Given the description of an element on the screen output the (x, y) to click on. 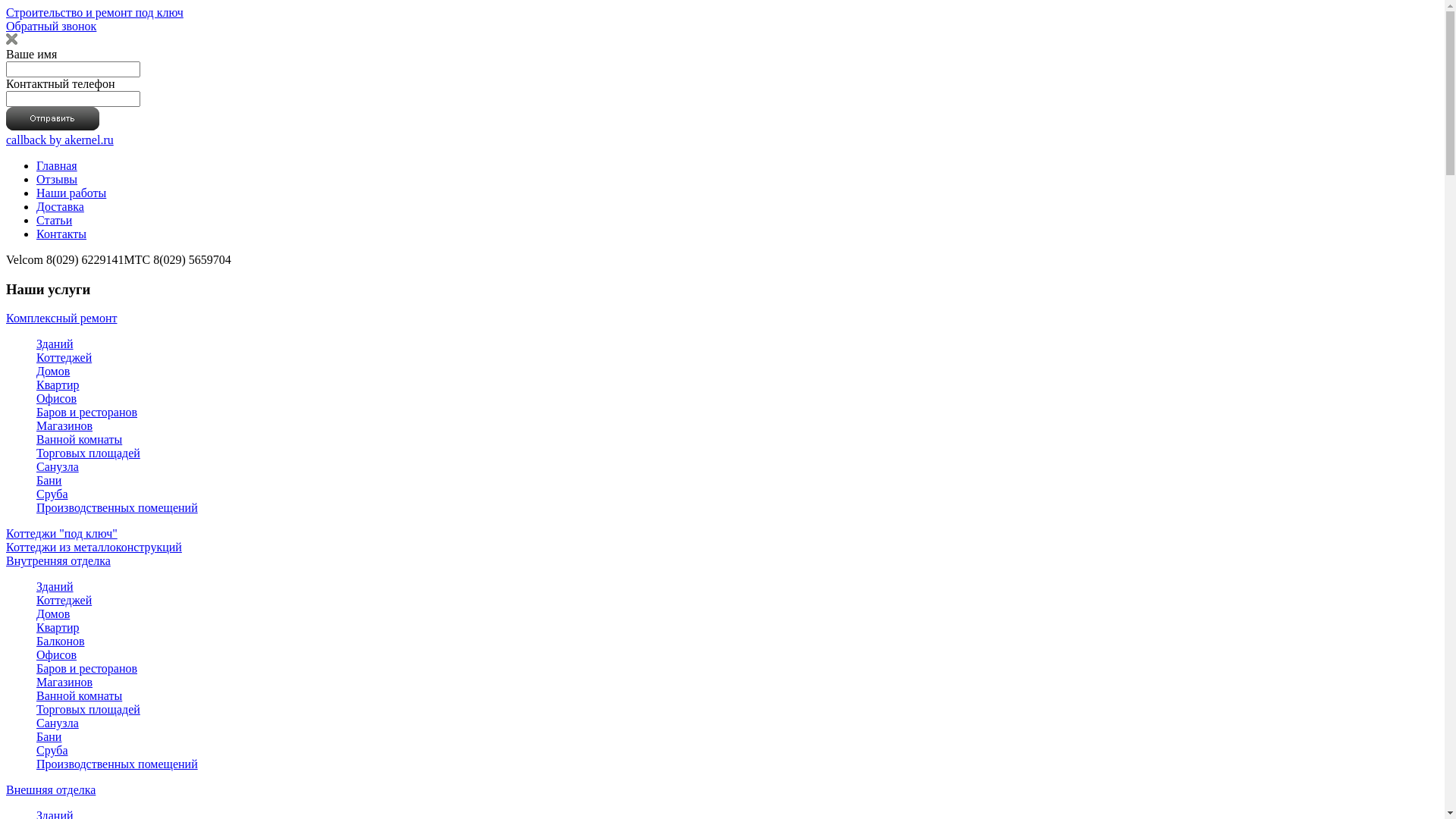
callback by akernel.ru Element type: text (59, 139)
